Given the description of an element on the screen output the (x, y) to click on. 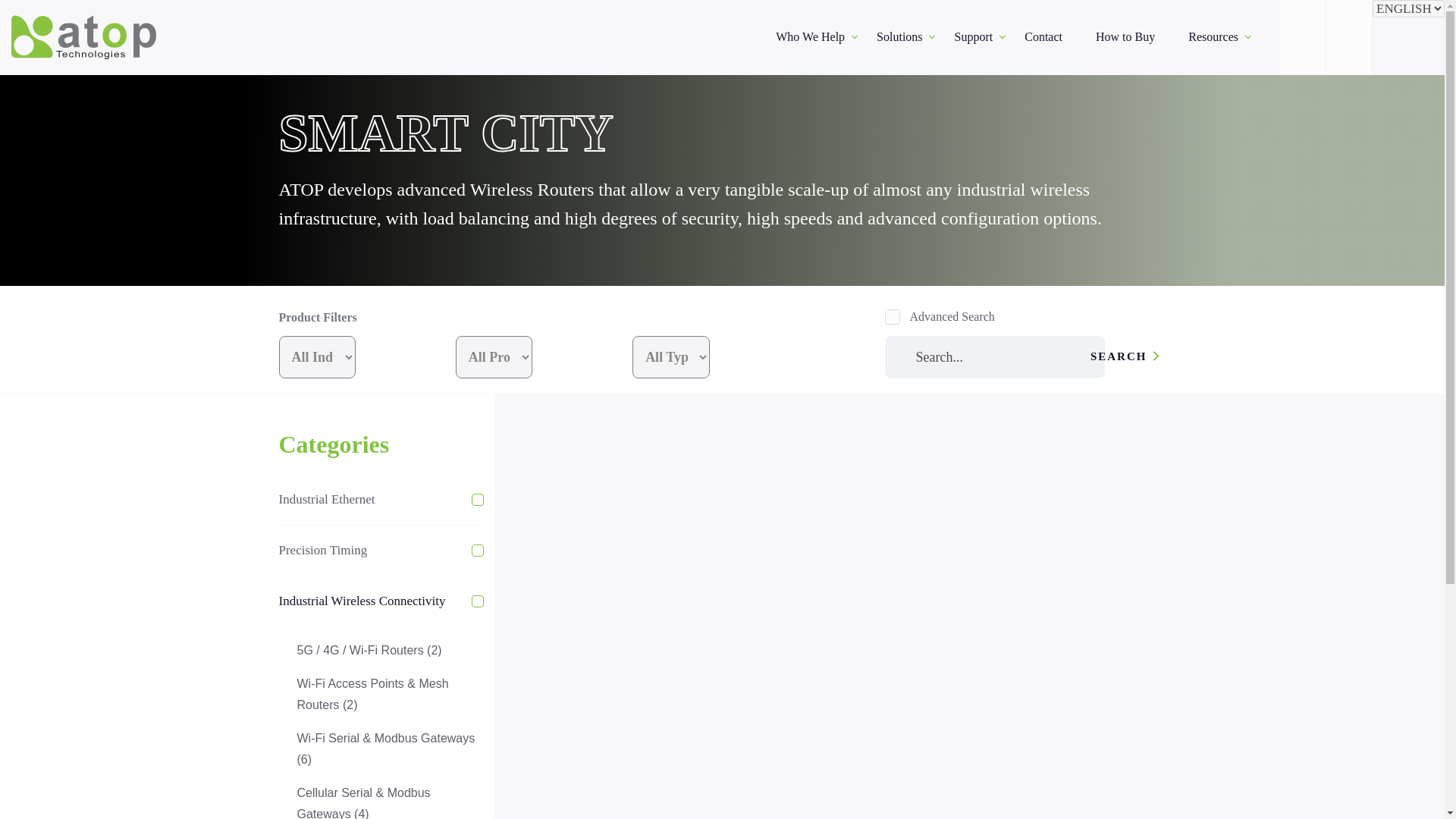
Resources (1212, 36)
Support (972, 36)
Who We Help (809, 36)
Contact (1042, 36)
Solutions (898, 36)
How to Buy (1124, 36)
